Given the description of an element on the screen output the (x, y) to click on. 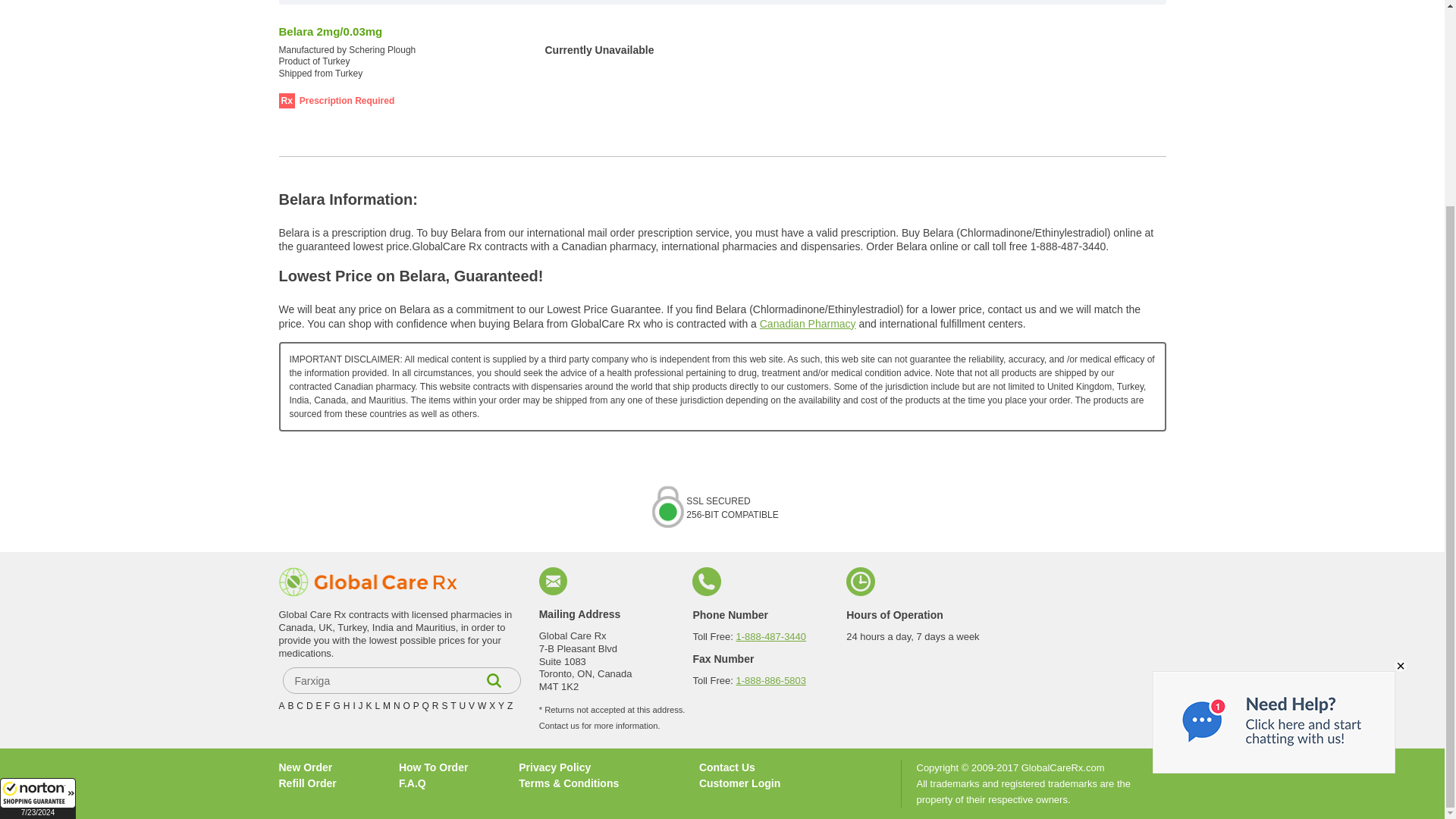
Search (494, 680)
Unused iFrame 1 (37, 532)
Canadian Pharmacy (808, 323)
Farxiga (400, 680)
